Given the description of an element on the screen output the (x, y) to click on. 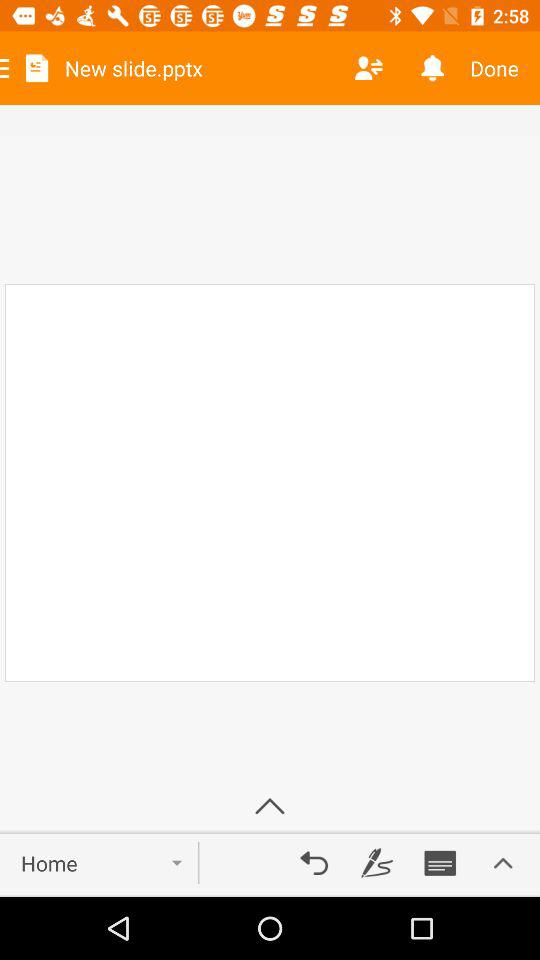
click the item next to new slide.pptx item (368, 68)
